Given the description of an element on the screen output the (x, y) to click on. 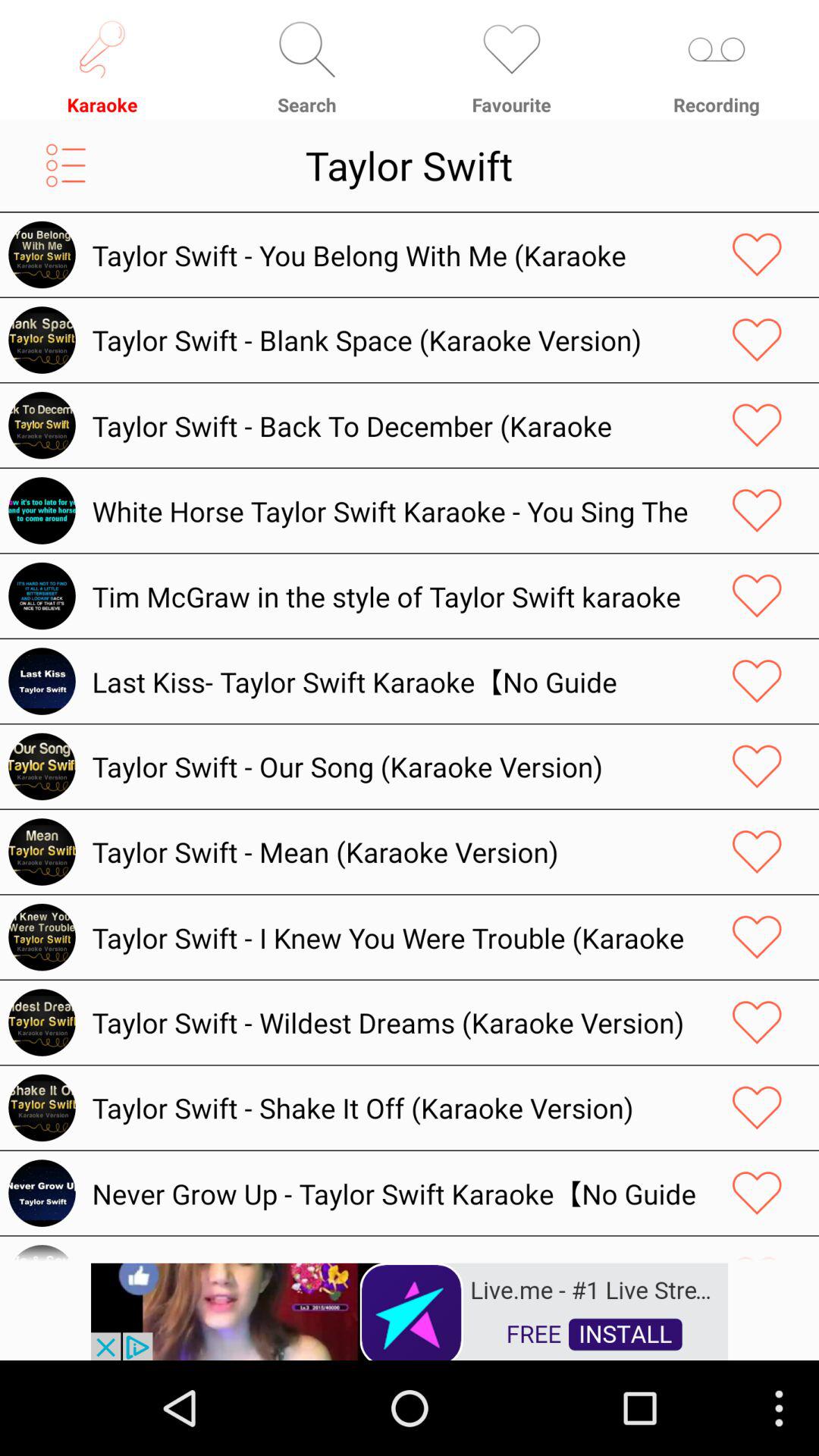
favourite (756, 339)
